Given the description of an element on the screen output the (x, y) to click on. 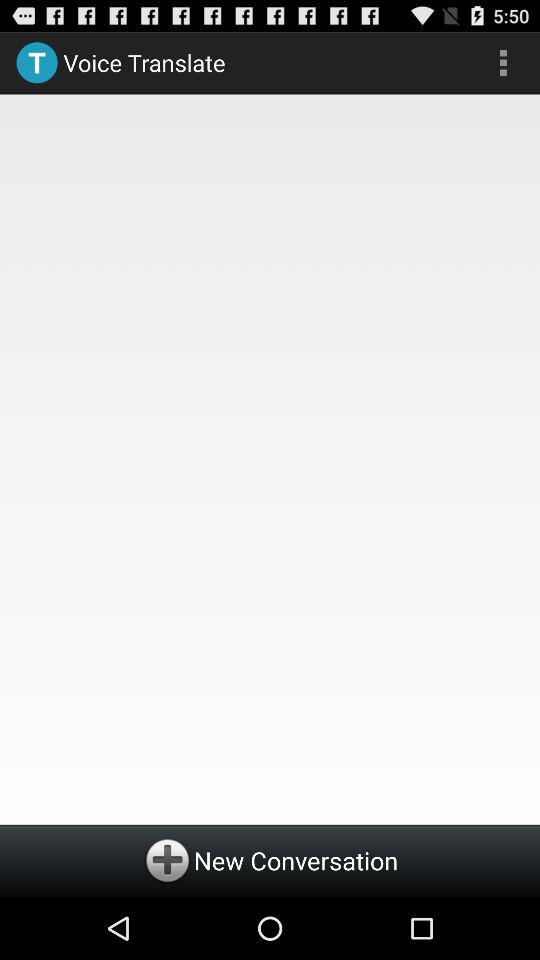
open the item to the right of the voice translate item (503, 62)
